Given the description of an element on the screen output the (x, y) to click on. 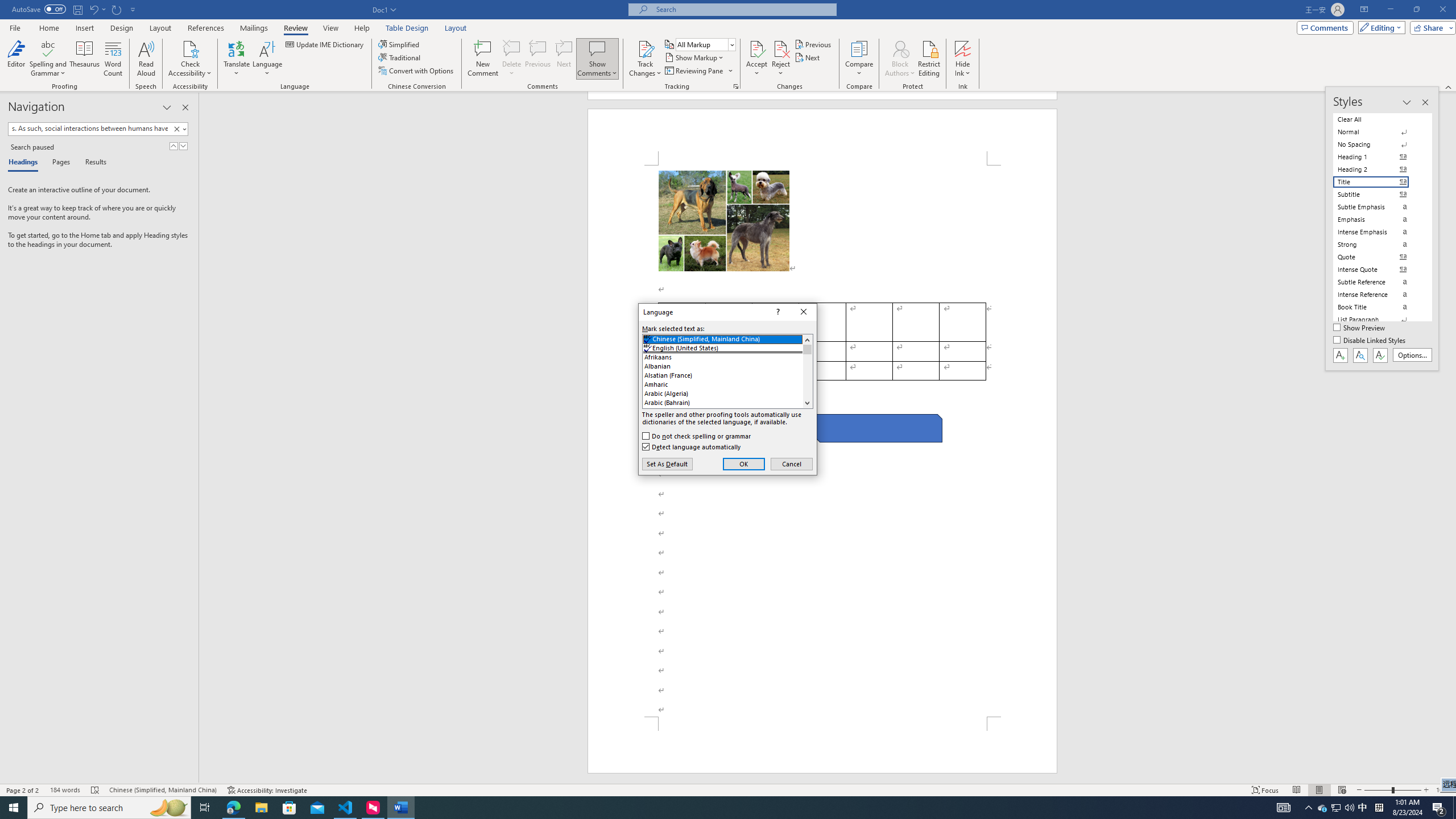
Do not check spelling or grammar (697, 435)
Reject (780, 58)
Word - 1 running window (400, 807)
Next (808, 56)
Subtle Emphasis (1377, 206)
Undo Style (96, 9)
